Given the description of an element on the screen output the (x, y) to click on. 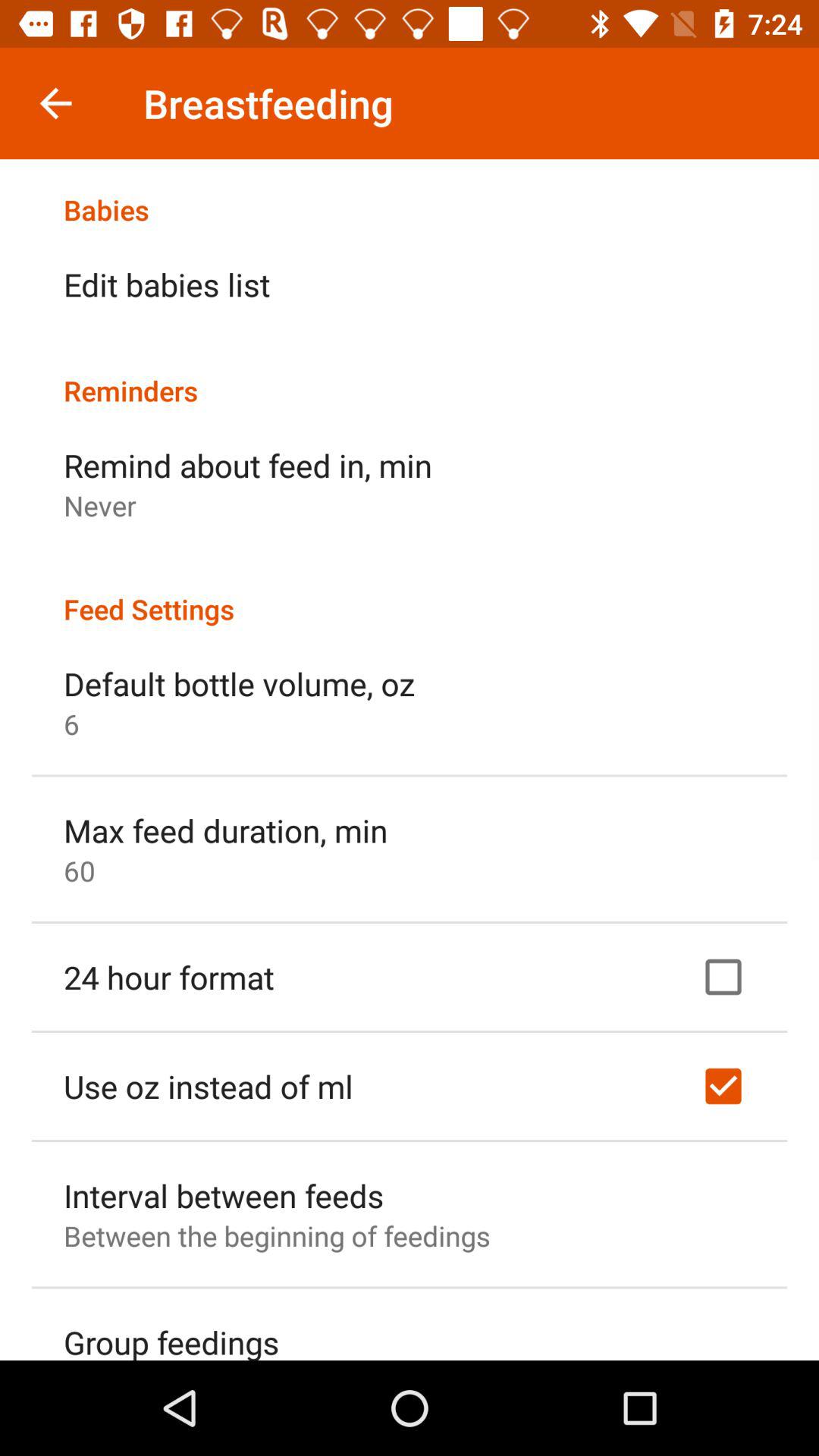
jump to the between the beginning item (276, 1235)
